Given the description of an element on the screen output the (x, y) to click on. 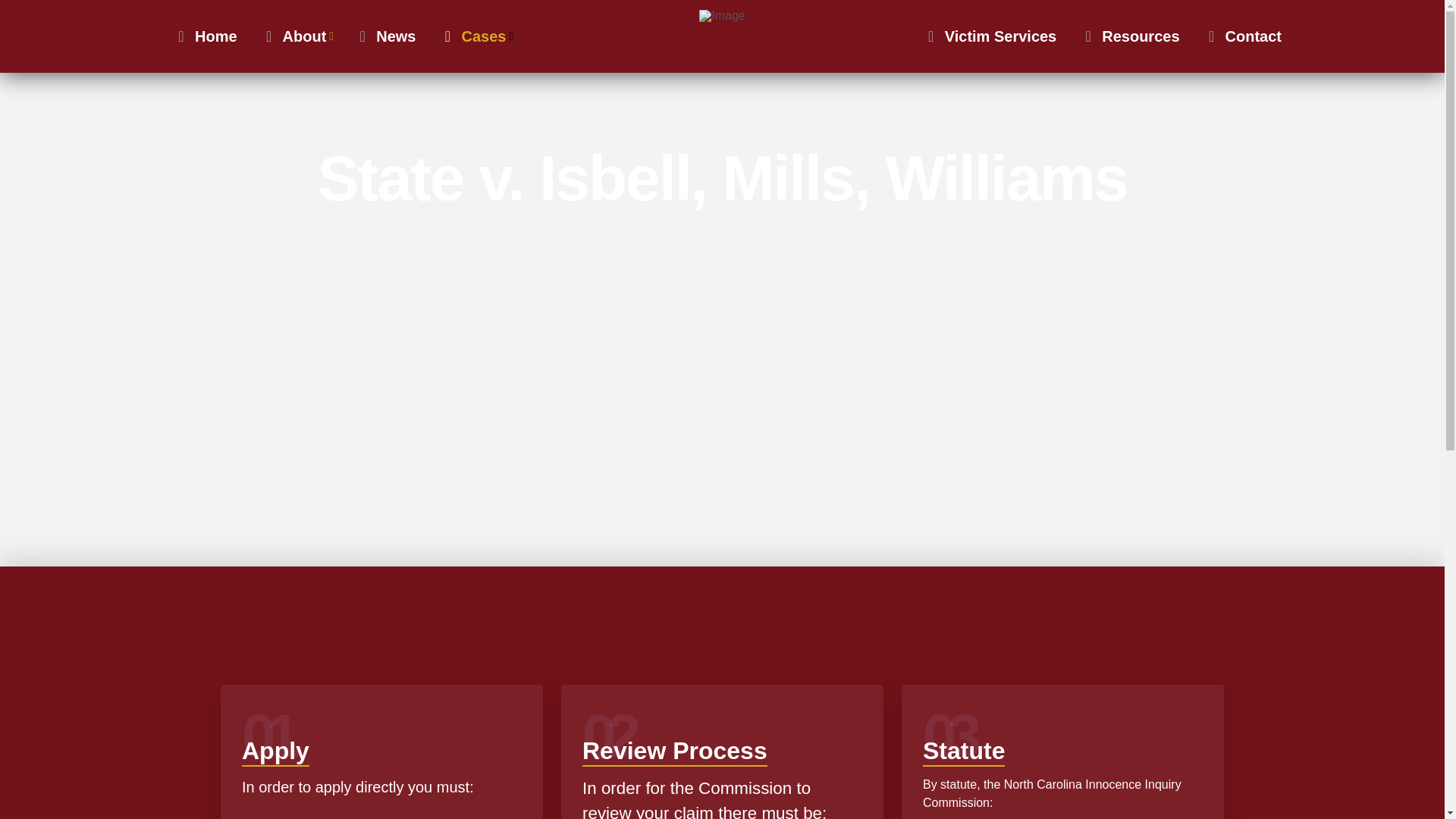
Resources (1129, 36)
Home (204, 36)
About (295, 36)
Contact (1243, 36)
Victim Services (989, 36)
Cases (475, 36)
News (385, 36)
